Given the description of an element on the screen output the (x, y) to click on. 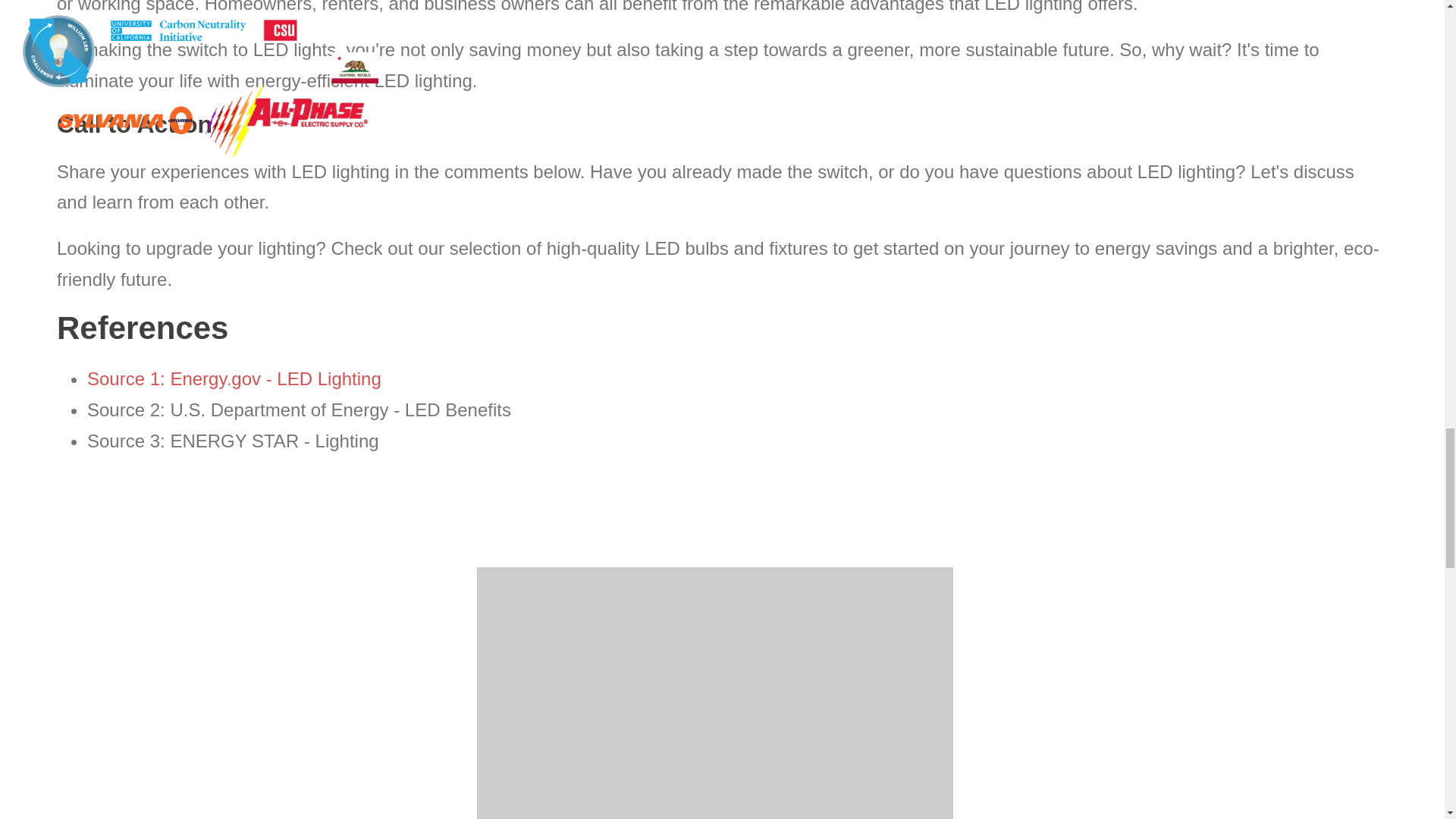
Source 1: Energy.gov - LED Lighting (234, 378)
